Given the description of an element on the screen output the (x, y) to click on. 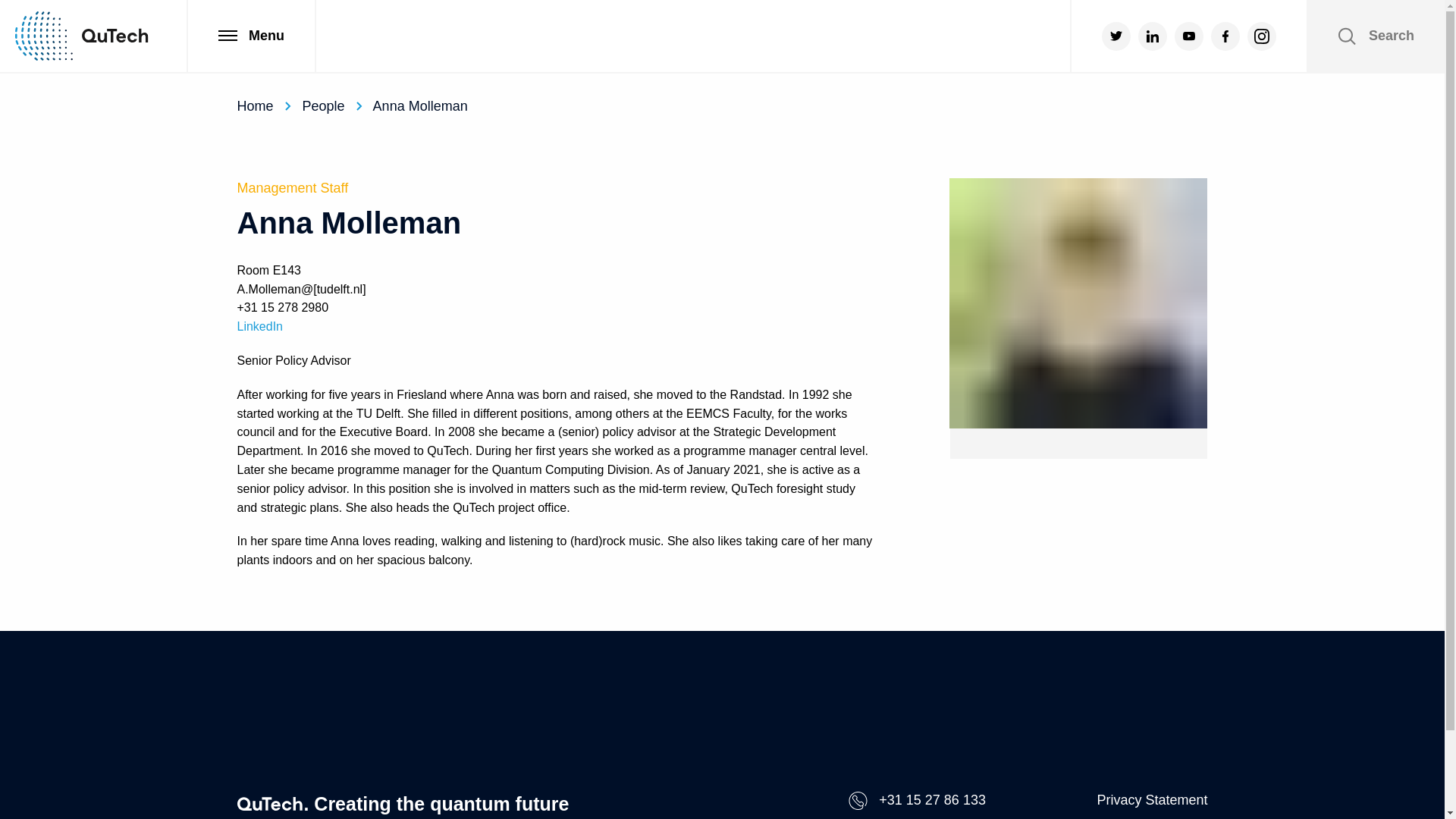
Menu (250, 36)
QuTech (81, 35)
QuTech (81, 35)
